Given the description of an element on the screen output the (x, y) to click on. 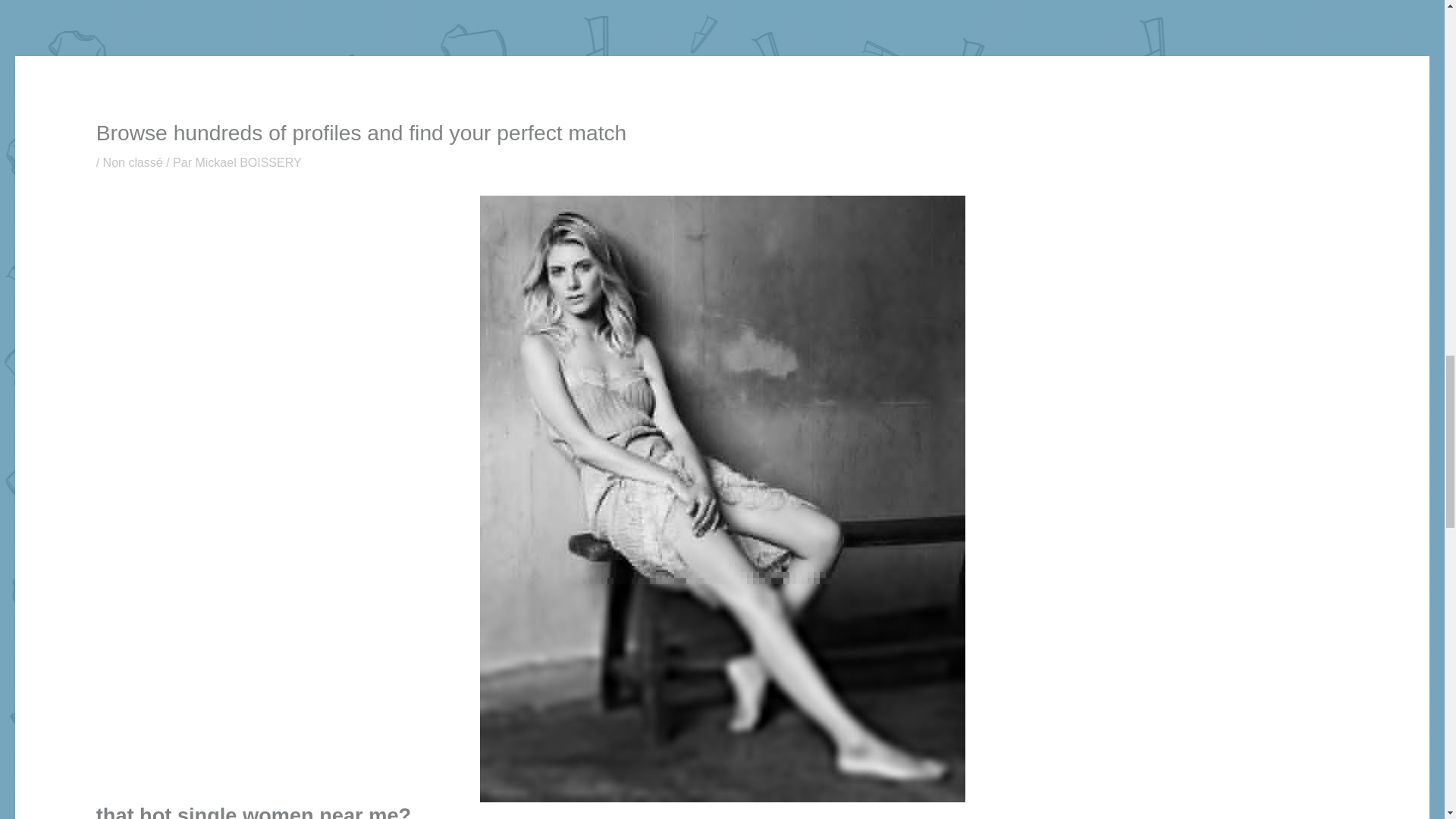
Voir toutes les publications de Mickael BOISSERY (248, 162)
